Given the description of an element on the screen output the (x, y) to click on. 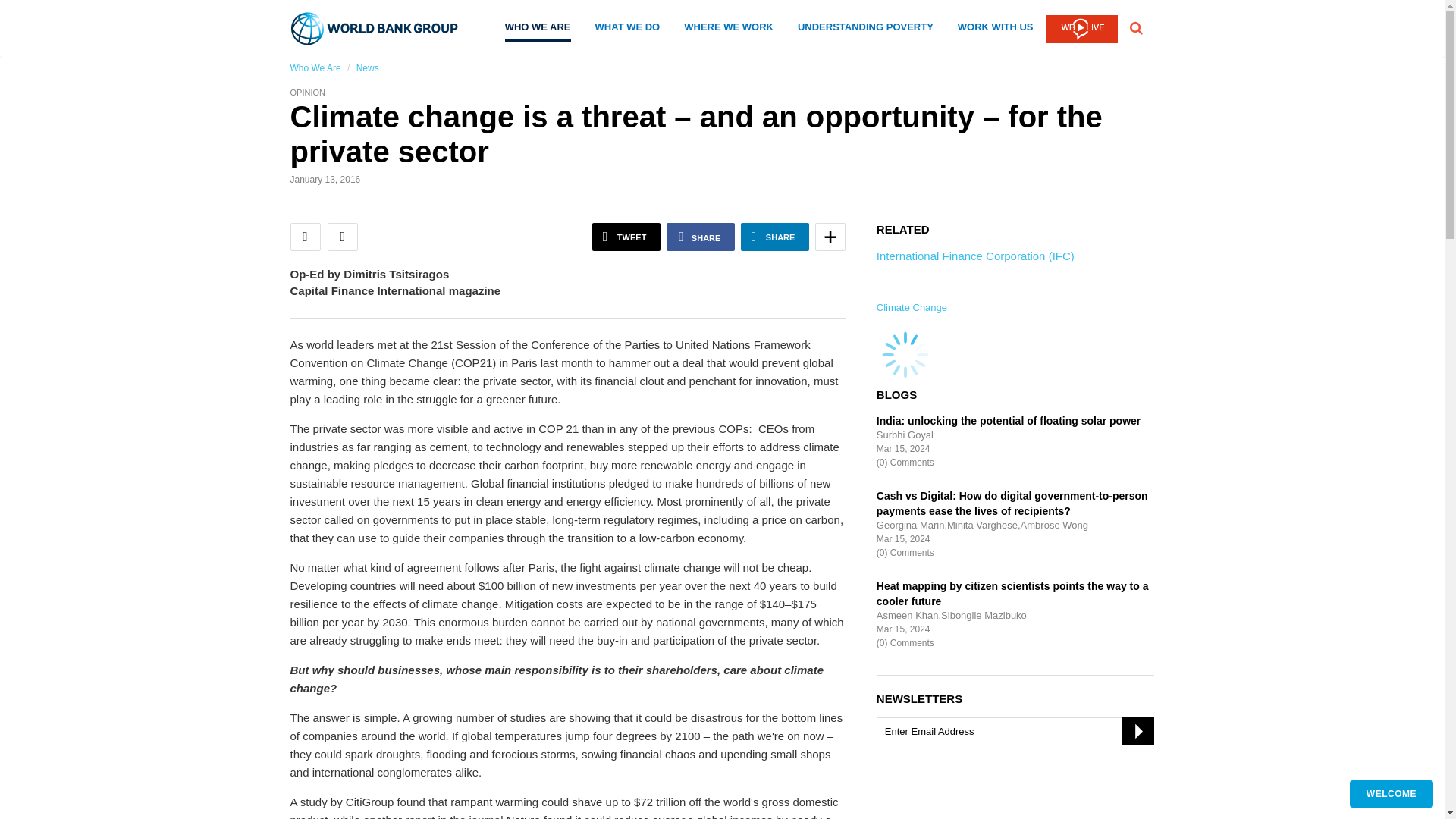
WHO WE ARE (537, 31)
Facebook (700, 236)
Email (304, 236)
Tweet (626, 236)
Share (830, 236)
Print (342, 236)
The World Bank Working for a World Free of Poverty (374, 28)
Enter Email Address (1015, 731)
WHAT WE DO (628, 30)
Enter Email Address (1015, 731)
